Given the description of an element on the screen output the (x, y) to click on. 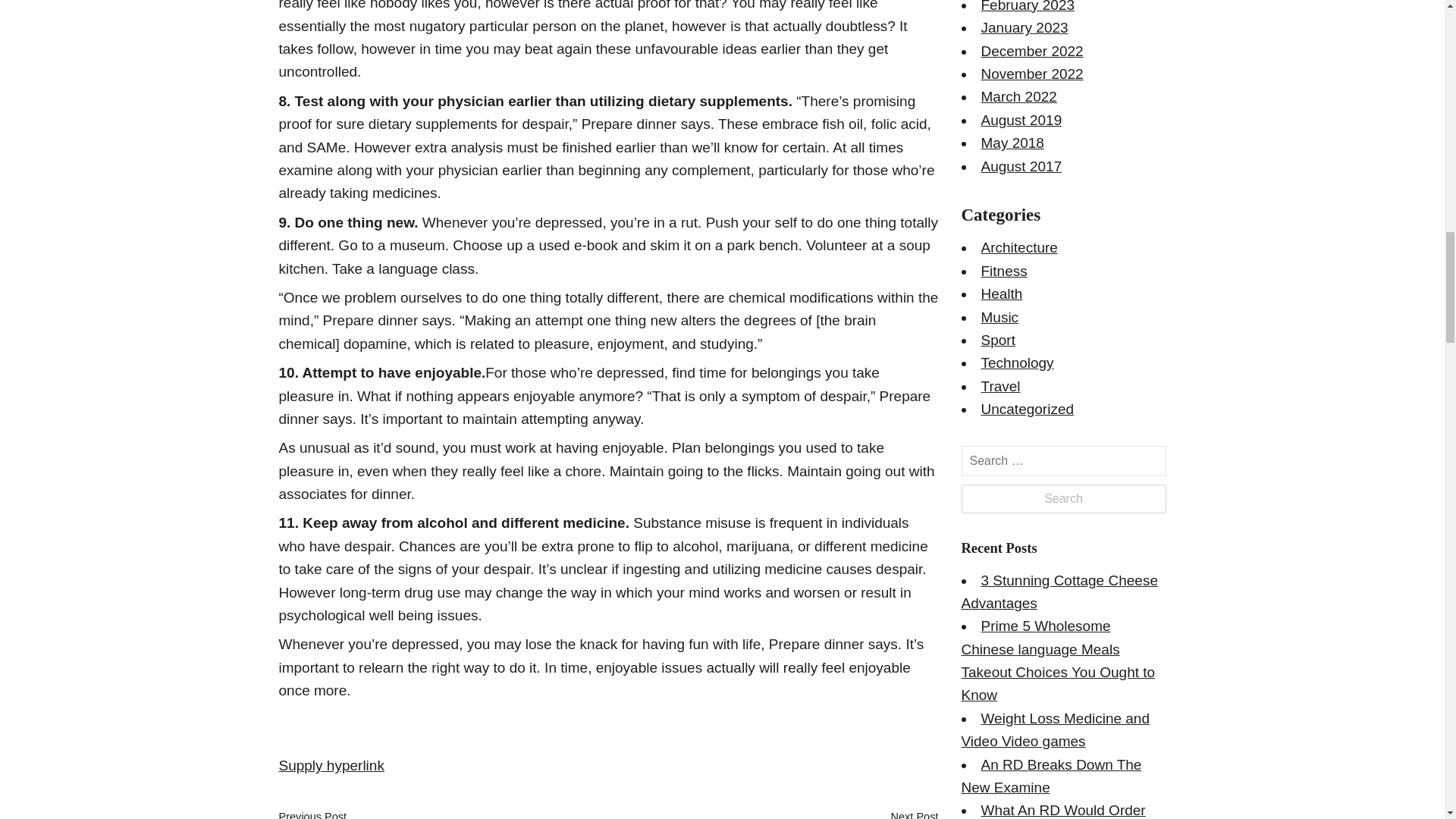
Previous Post (313, 814)
Next Post (913, 814)
Search (1063, 498)
Supply hyperlink (331, 765)
Search (1063, 498)
